Given the description of an element on the screen output the (x, y) to click on. 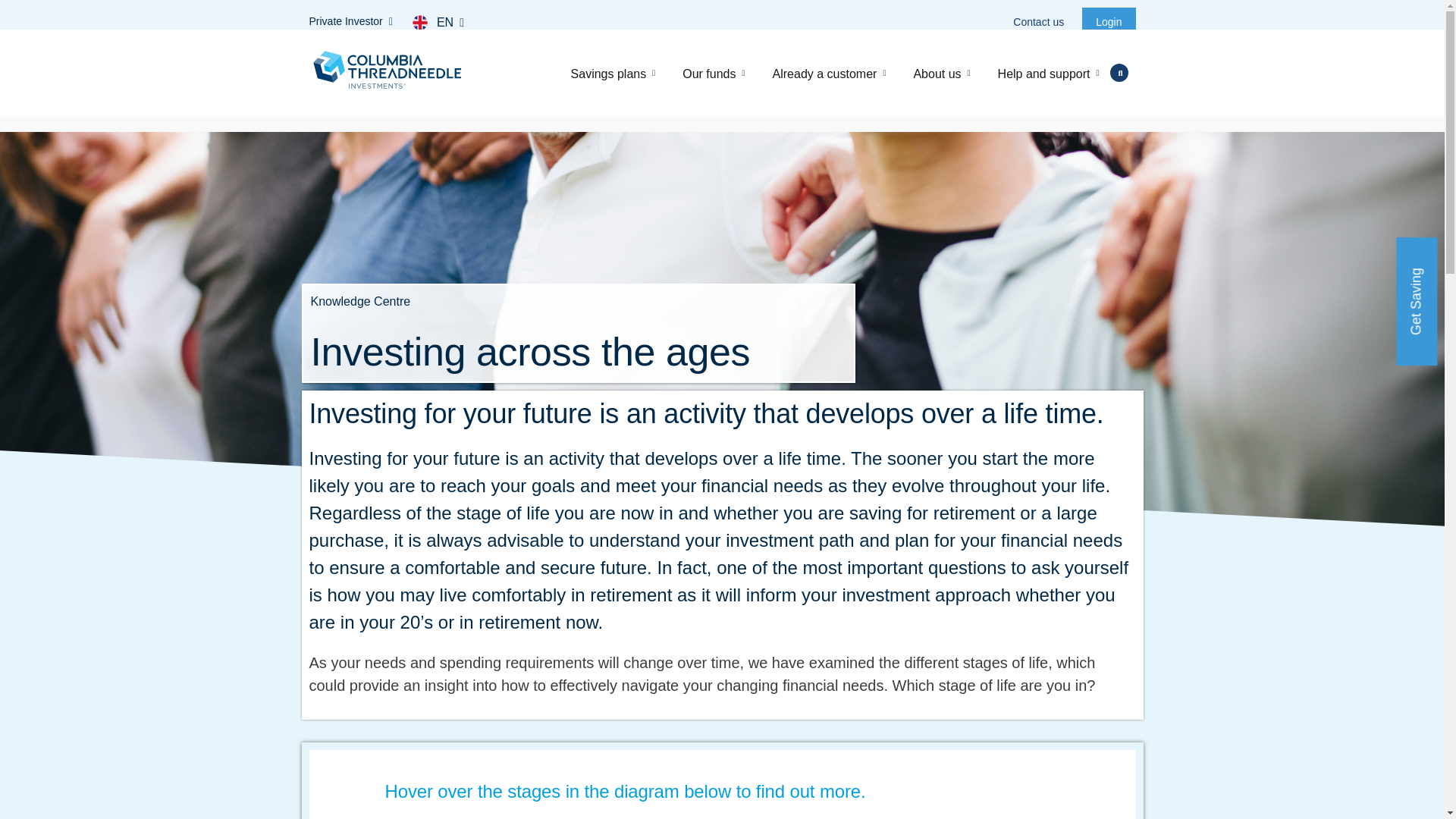
EN (453, 22)
Contact us (1042, 21)
Our funds (713, 72)
About us (941, 72)
Private Investor (354, 20)
Help and support (1051, 72)
Savings plans (613, 72)
Already a customer (828, 72)
Login (1108, 21)
